Given the description of an element on the screen output the (x, y) to click on. 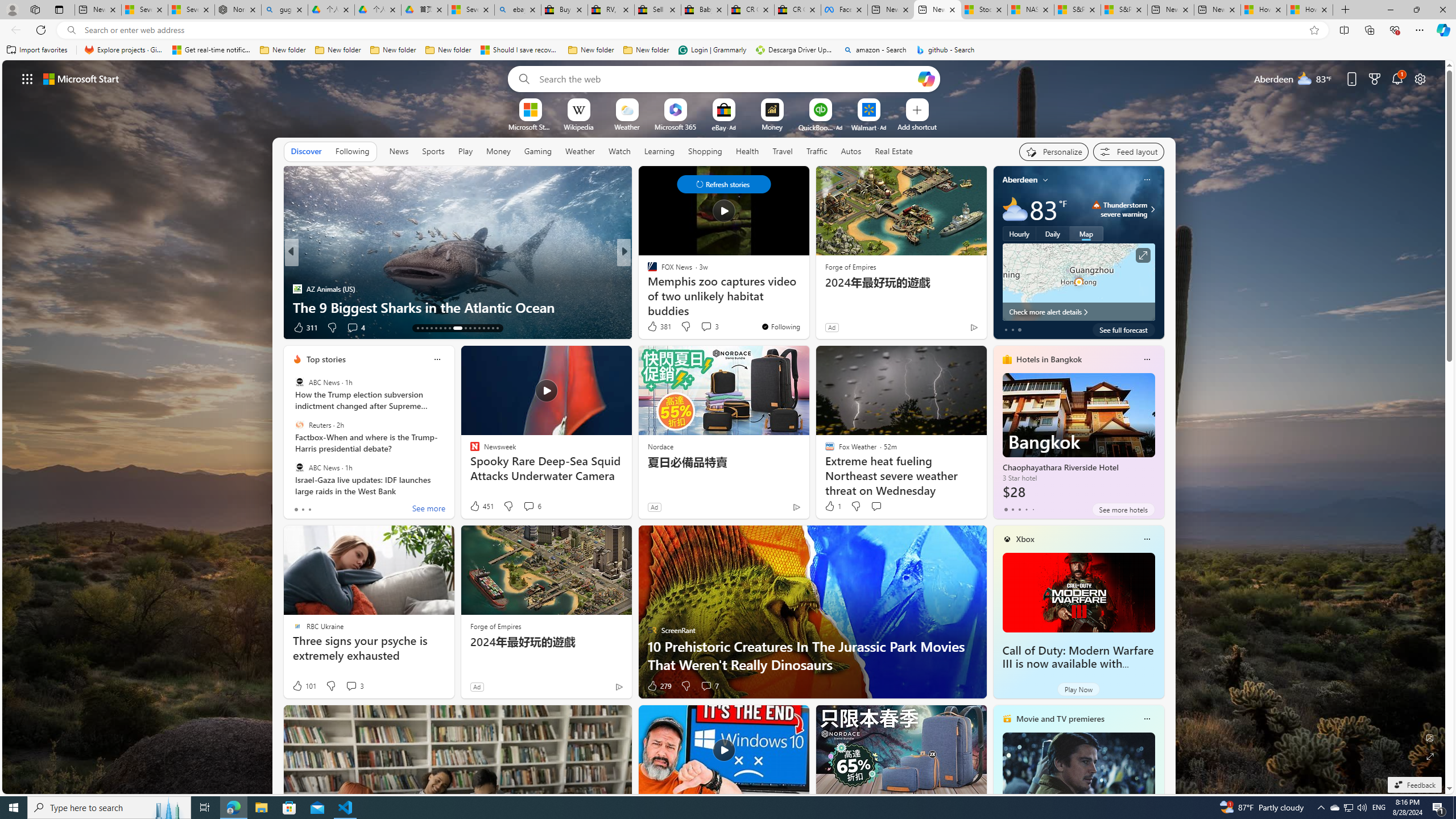
Nordace - Summer Adventures 2024 (237, 9)
Dislike (685, 685)
AutomationID: tab-16 (431, 328)
ABC News (299, 466)
Following (352, 151)
Close (1442, 9)
View comments 10 Comment (704, 327)
Add this page to favorites (Ctrl+D) (1314, 29)
Address and search bar (692, 29)
